Given the description of an element on the screen output the (x, y) to click on. 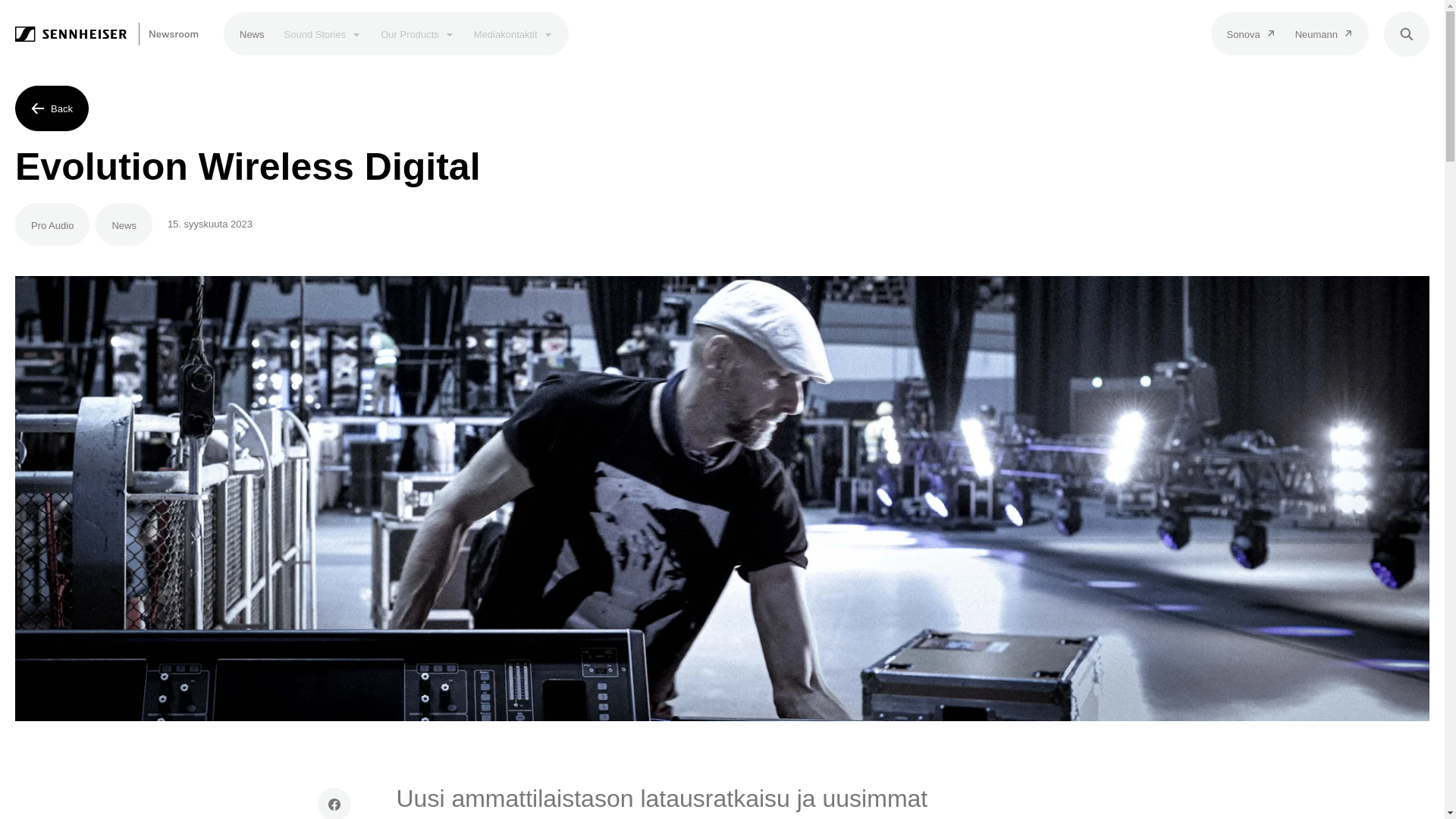
Etsi (1406, 33)
Sound Stories (323, 33)
Pro Audio (51, 224)
Mediakontaktit (513, 33)
Our Products (417, 33)
Sonova (1251, 33)
Sennheiser (106, 33)
Neumann (1323, 33)
News (252, 33)
Back (51, 108)
News (124, 224)
